Given the description of an element on the screen output the (x, y) to click on. 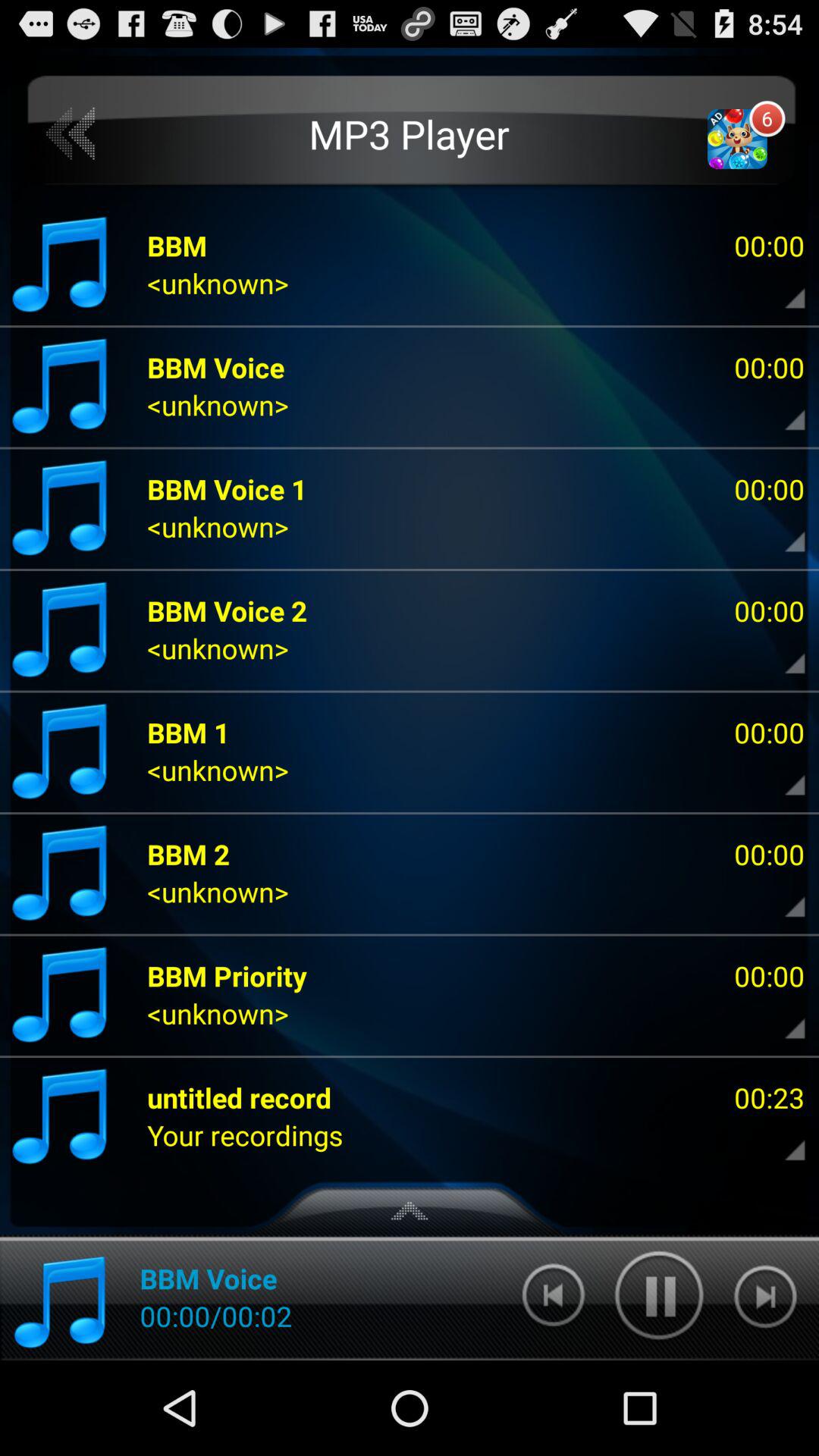
more info (782, 1017)
